Given the description of an element on the screen output the (x, y) to click on. 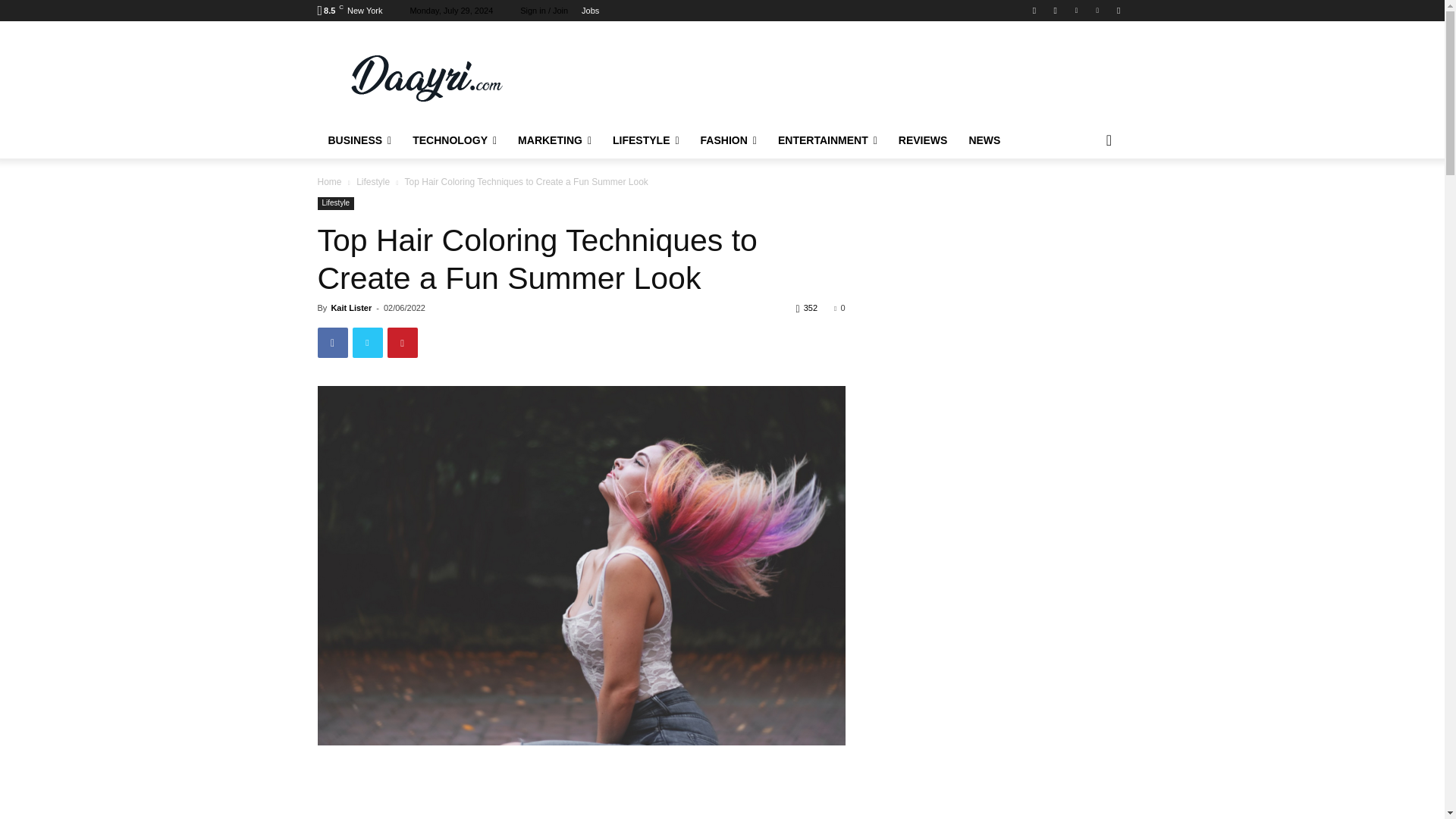
Advertisement (580, 787)
View all posts in Lifestyle (373, 181)
Advertisement (846, 76)
